Given the description of an element on the screen output the (x, y) to click on. 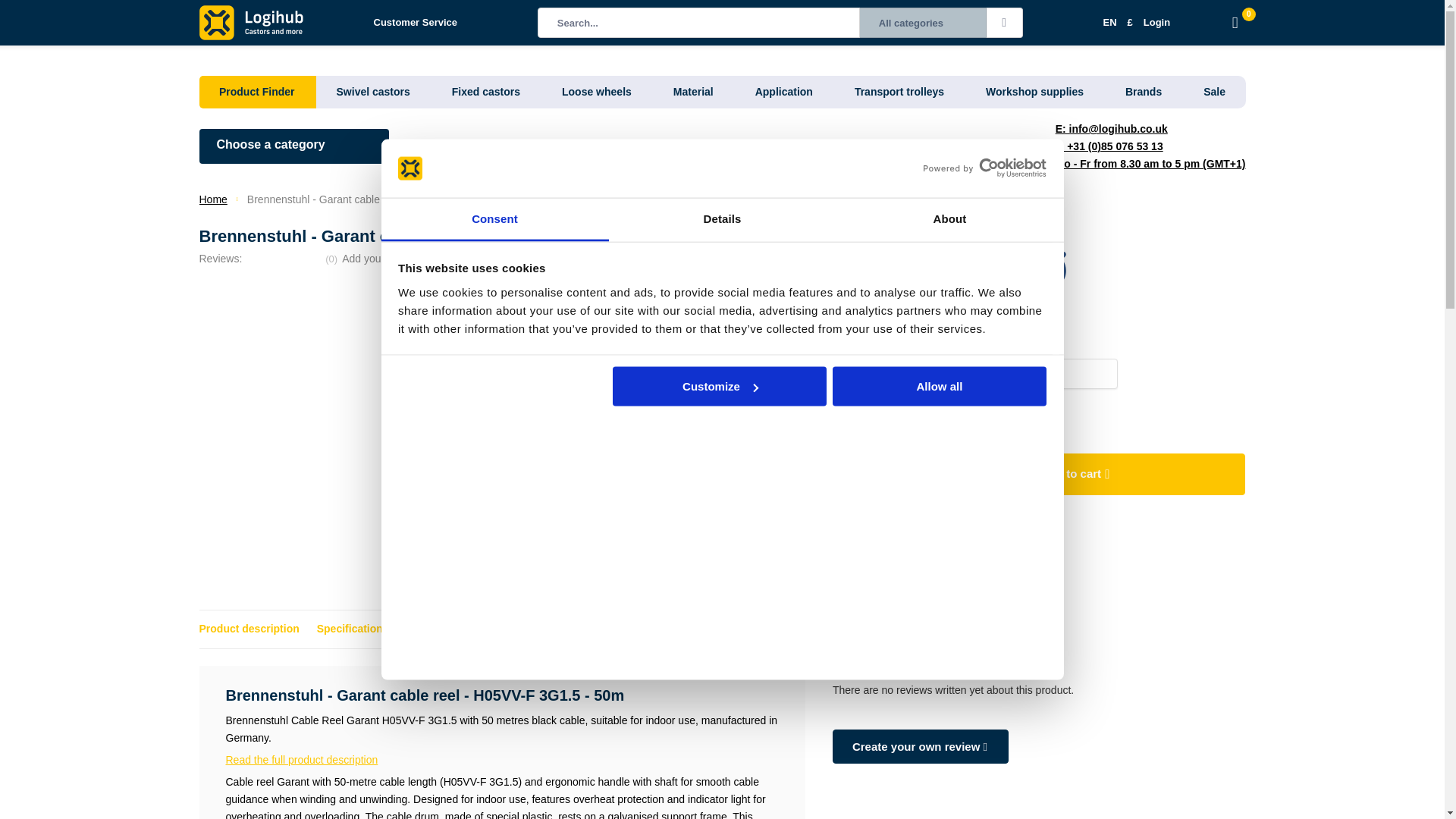
Search (1005, 22)
About (948, 219)
Details (721, 219)
Allow all (939, 386)
Customize (719, 386)
Consent (494, 219)
